Given the description of an element on the screen output the (x, y) to click on. 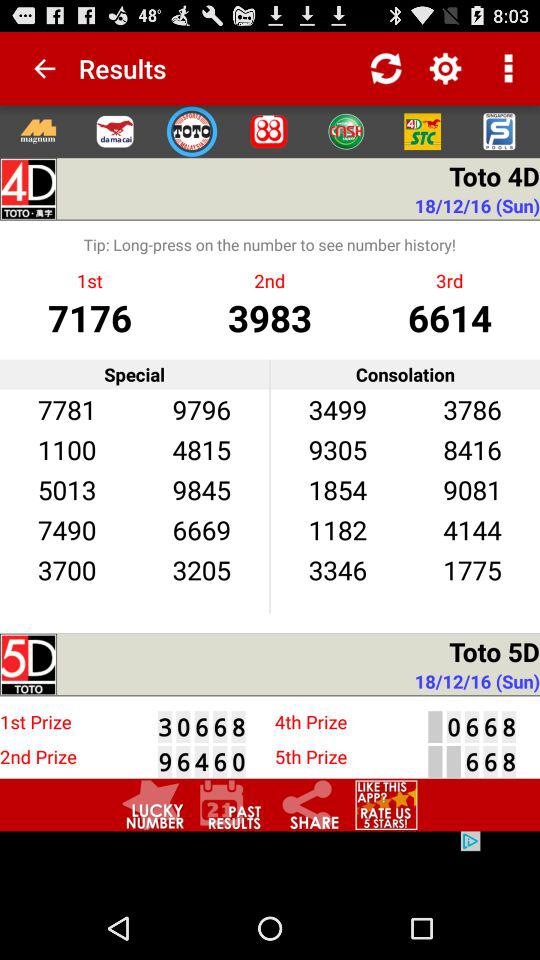
click icon to the left of the results app (36, 68)
